Given the description of an element on the screen output the (x, y) to click on. 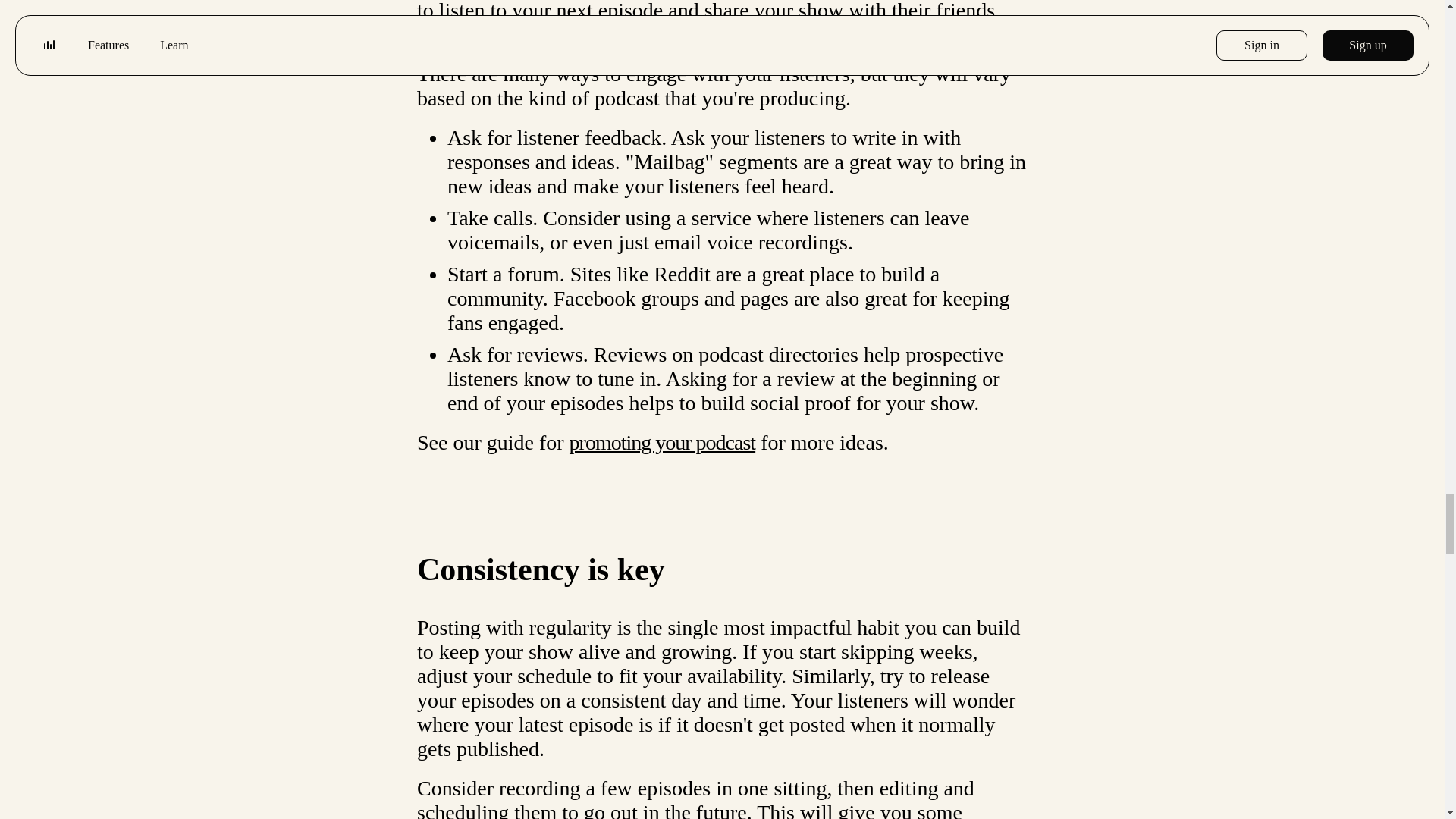
promoting your podcast (662, 442)
